Given the description of an element on the screen output the (x, y) to click on. 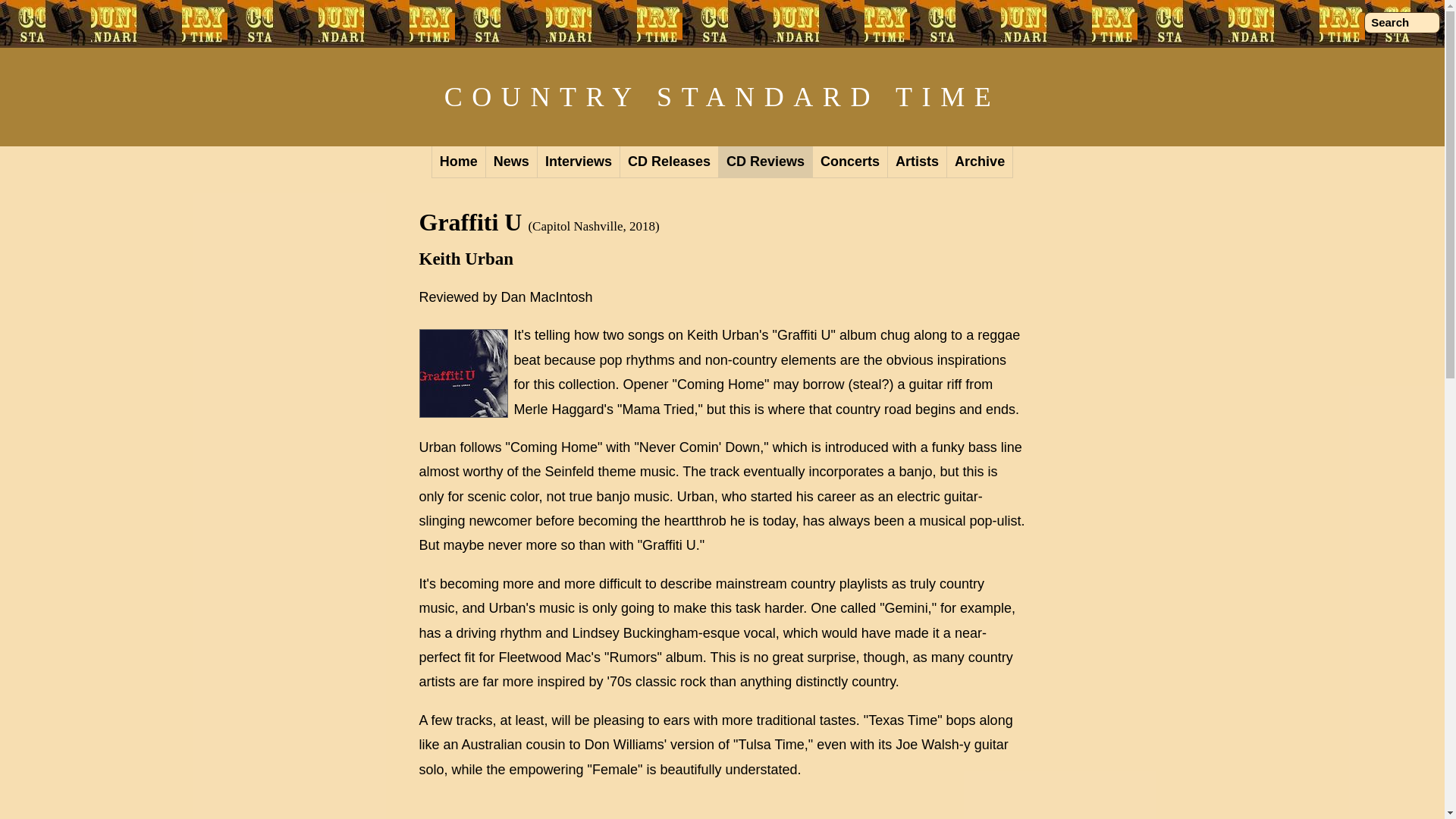
News (511, 162)
COUNTRY STANDARD TIME (722, 96)
 Search (1401, 22)
CD Releases (669, 162)
Archive (980, 162)
Interviews (578, 162)
CD Reviews (765, 162)
Home (458, 162)
Artists (917, 162)
 Search (1401, 22)
Advertisement (722, 807)
Concerts (850, 162)
